Given the description of an element on the screen output the (x, y) to click on. 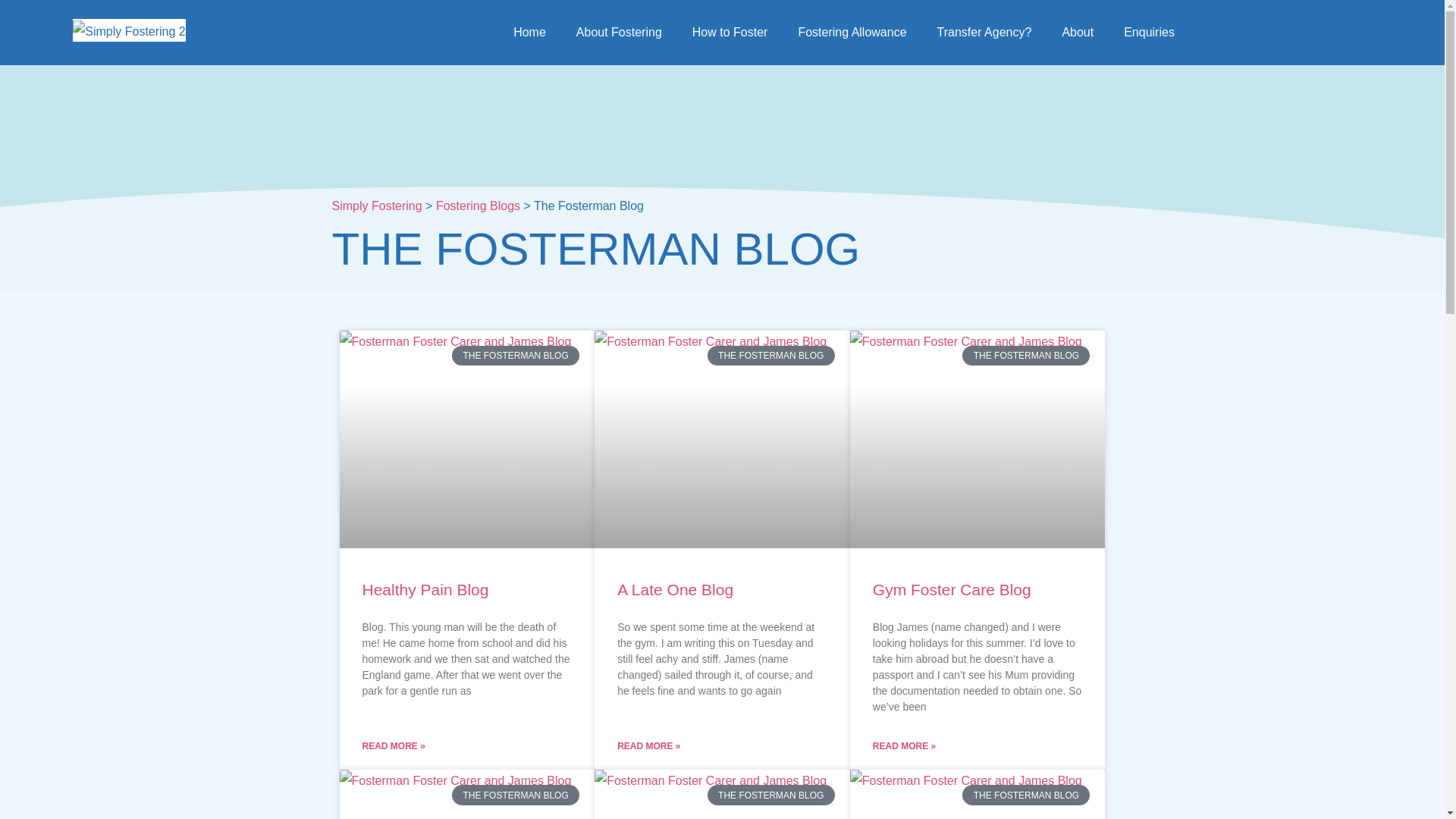
Home (528, 32)
Go to the Fostering Blogs category archives. (477, 205)
About Fostering (618, 32)
How to Foster (730, 32)
Go to Simply Fostering. (376, 205)
